Given the description of an element on the screen output the (x, y) to click on. 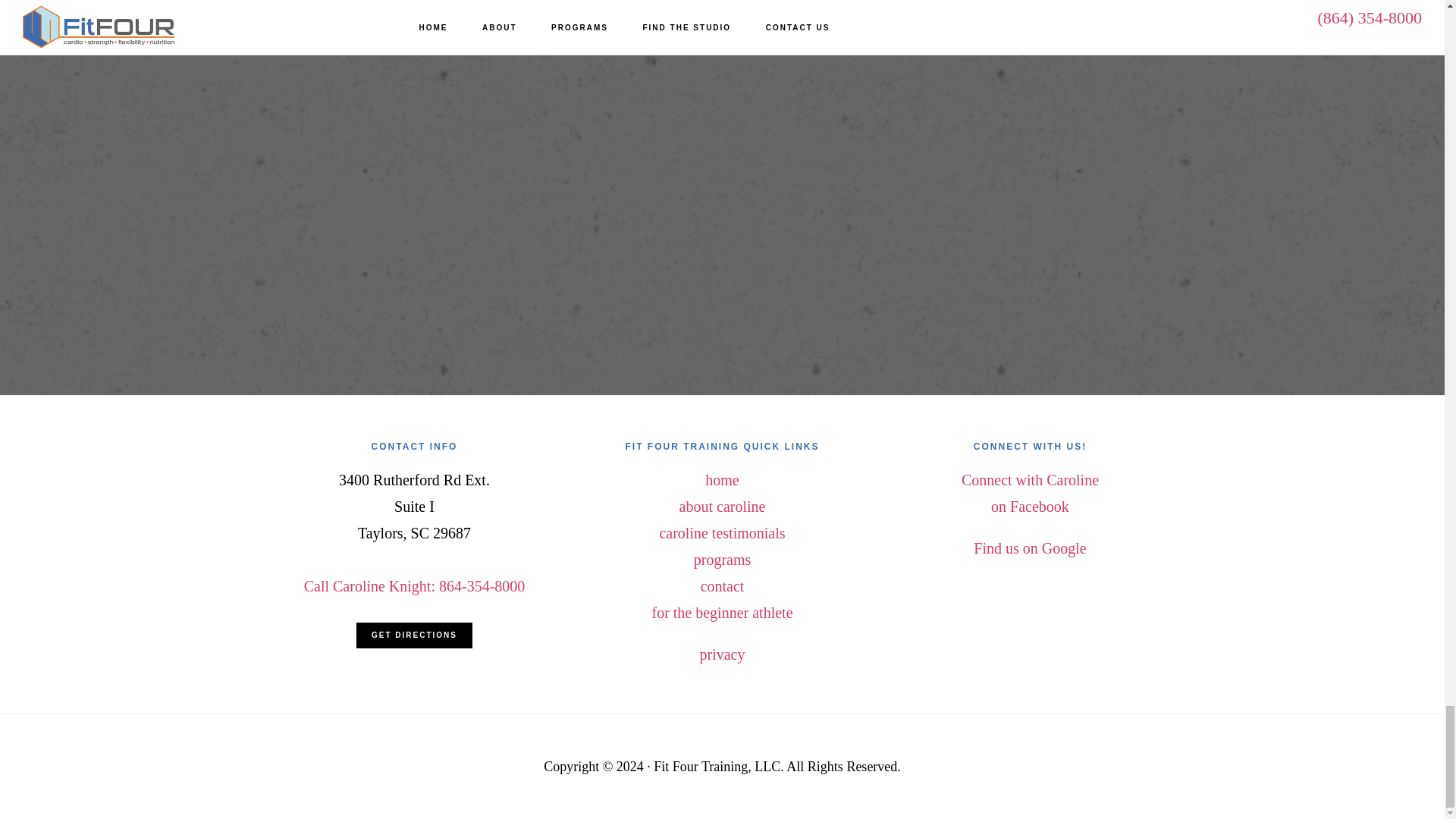
privacy (721, 654)
caroline testimonials (1029, 493)
contact (721, 532)
Find us on Google (722, 586)
Call Caroline Knight: 864-354-8000 (1030, 547)
home (414, 586)
for the beginner athlete (721, 479)
about caroline (721, 612)
GET DIRECTIONS (722, 506)
